Given the description of an element on the screen output the (x, y) to click on. 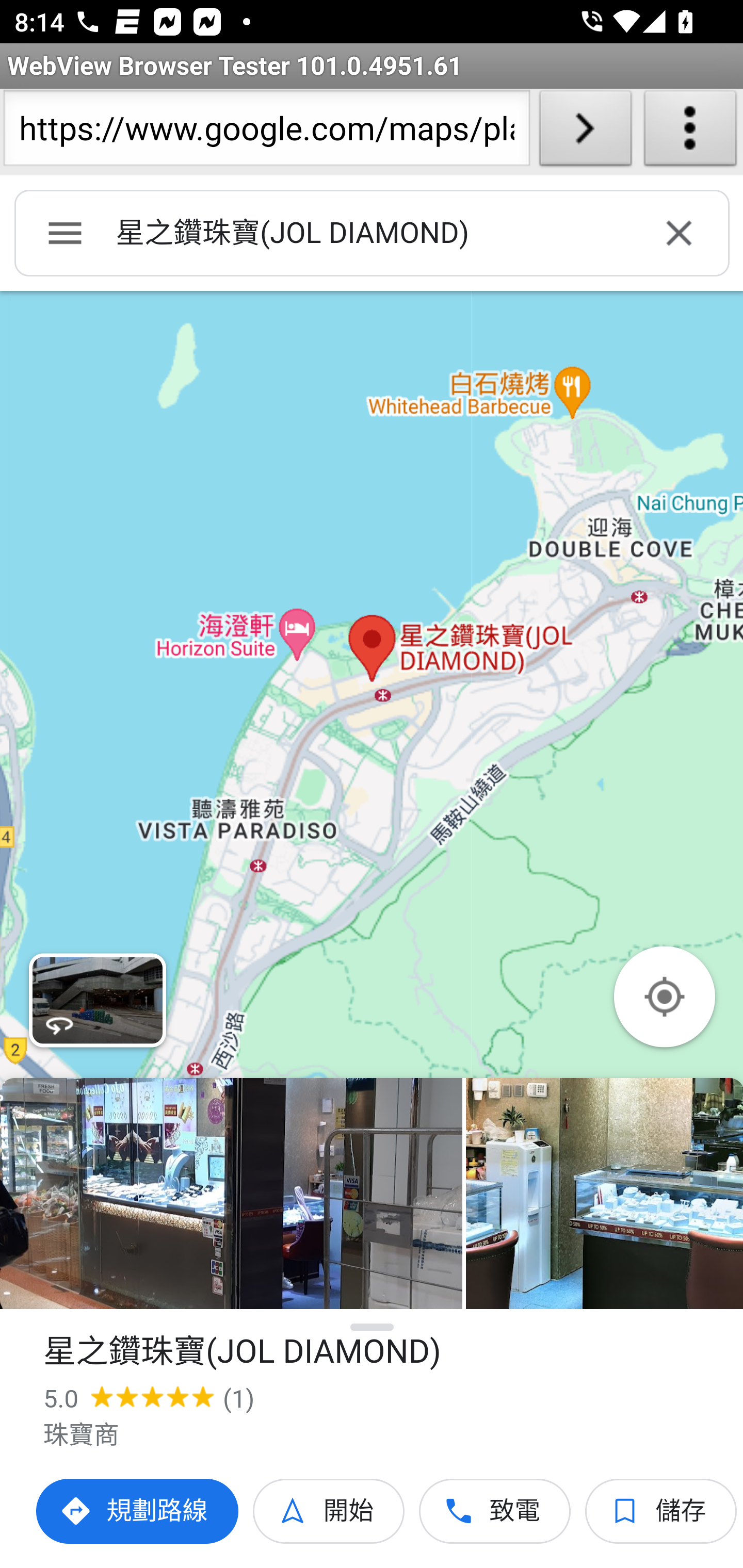
Load URL (585, 132)
About WebView (690, 132)
第 1 張相片 (共 6 張) (231, 1193)
第 2 張相片 (共 6 張) (604, 1193)
顯示詳細資料 (372, 1327)
前往星之鑽珠寶(JOL DIAMOND)的路線 (137, 1511)
開始 (329, 1511)
致電「星之鑽珠寶(JOL DIAMOND)」  致電 (495, 1511)
將「星之鑽珠寶(JOL DIAMOND)」儲存至清單中 (661, 1511)
